Given the description of an element on the screen output the (x, y) to click on. 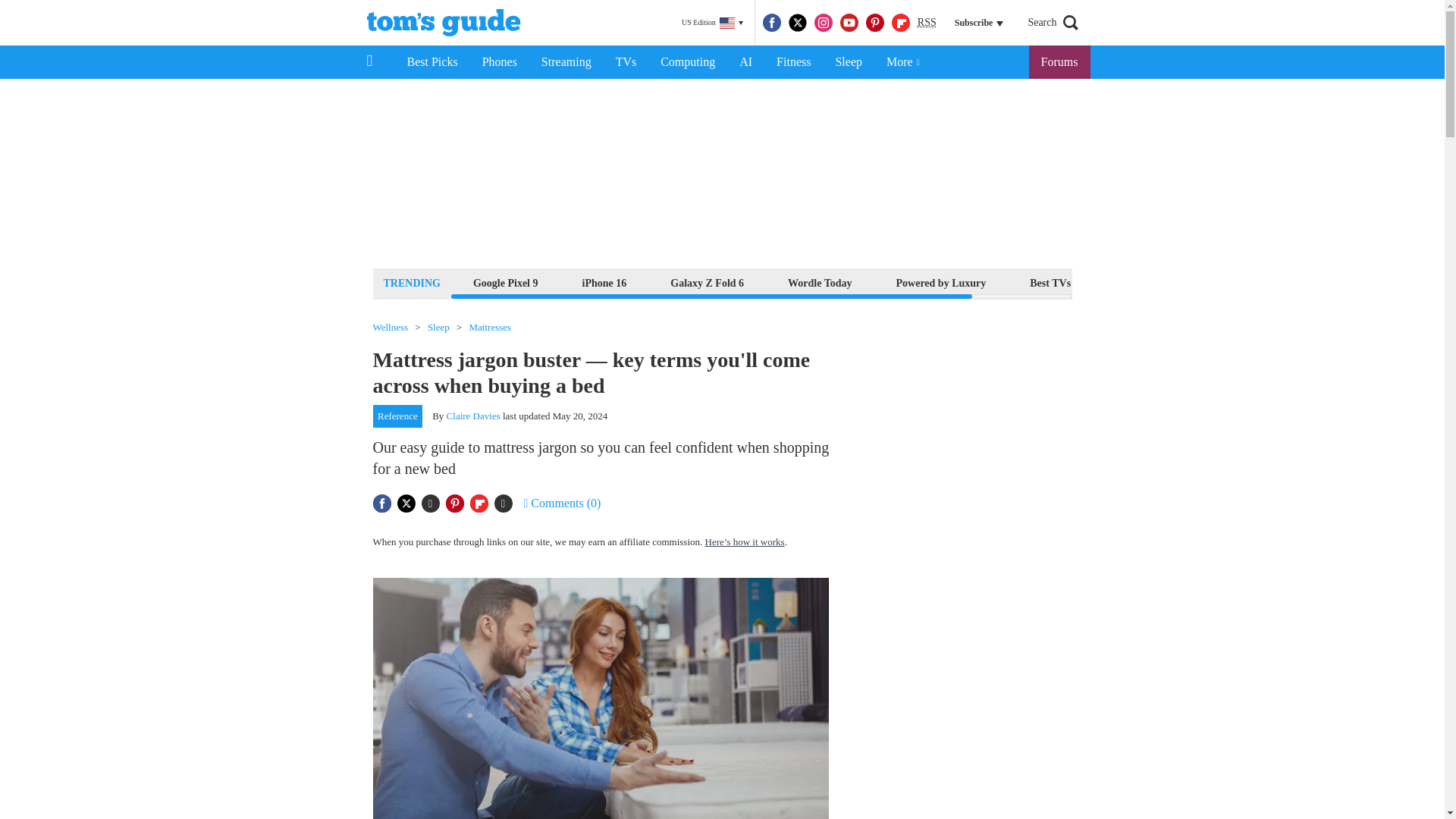
RSS (926, 22)
Computing (686, 61)
US Edition (712, 22)
Phones (499, 61)
Really Simple Syndication (926, 21)
AI (745, 61)
Streaming (566, 61)
Sleep (848, 61)
TVs (626, 61)
Best Picks (431, 61)
